Given the description of an element on the screen output the (x, y) to click on. 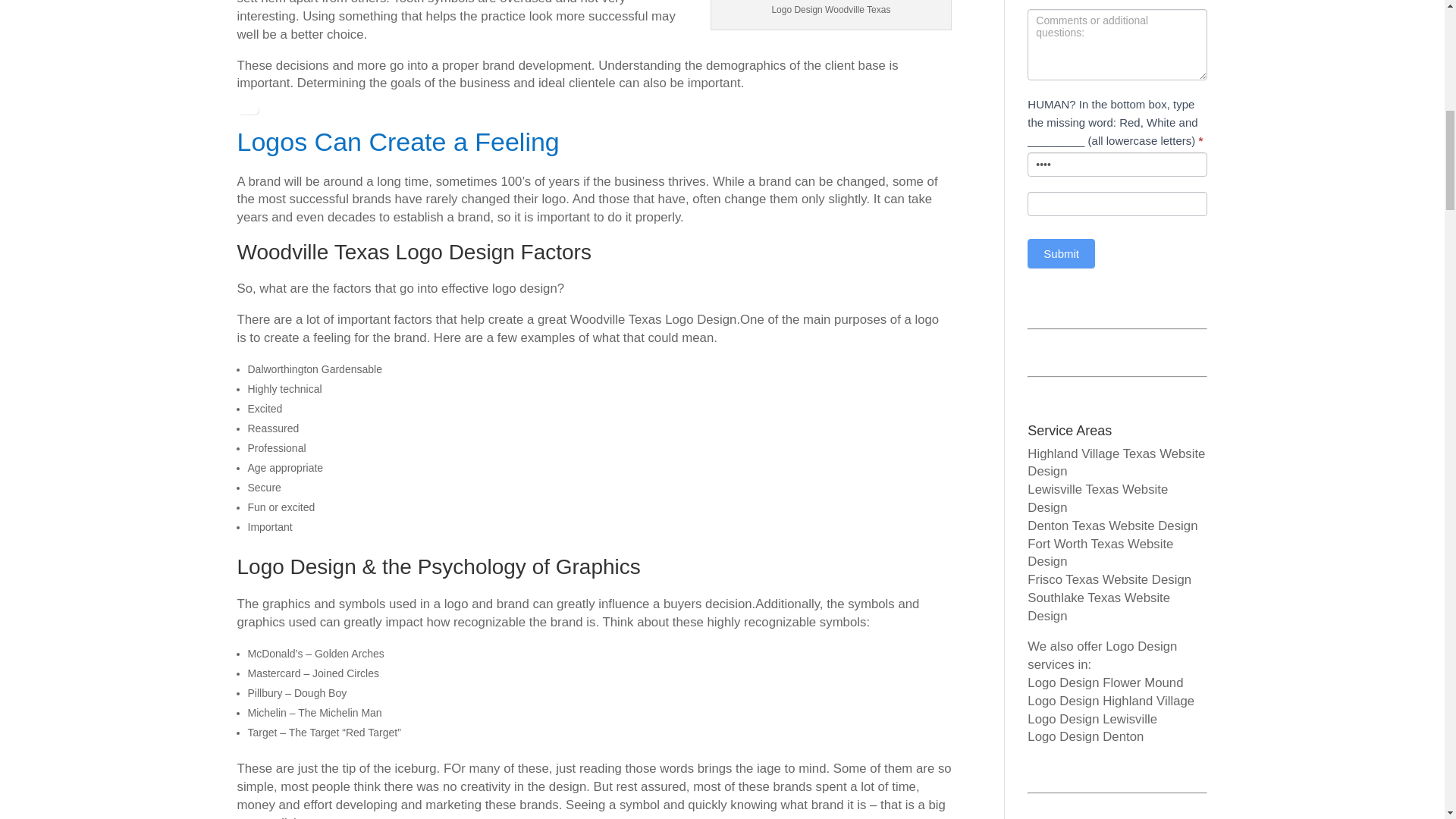
blue (1117, 164)
